Given the description of an element on the screen output the (x, y) to click on. 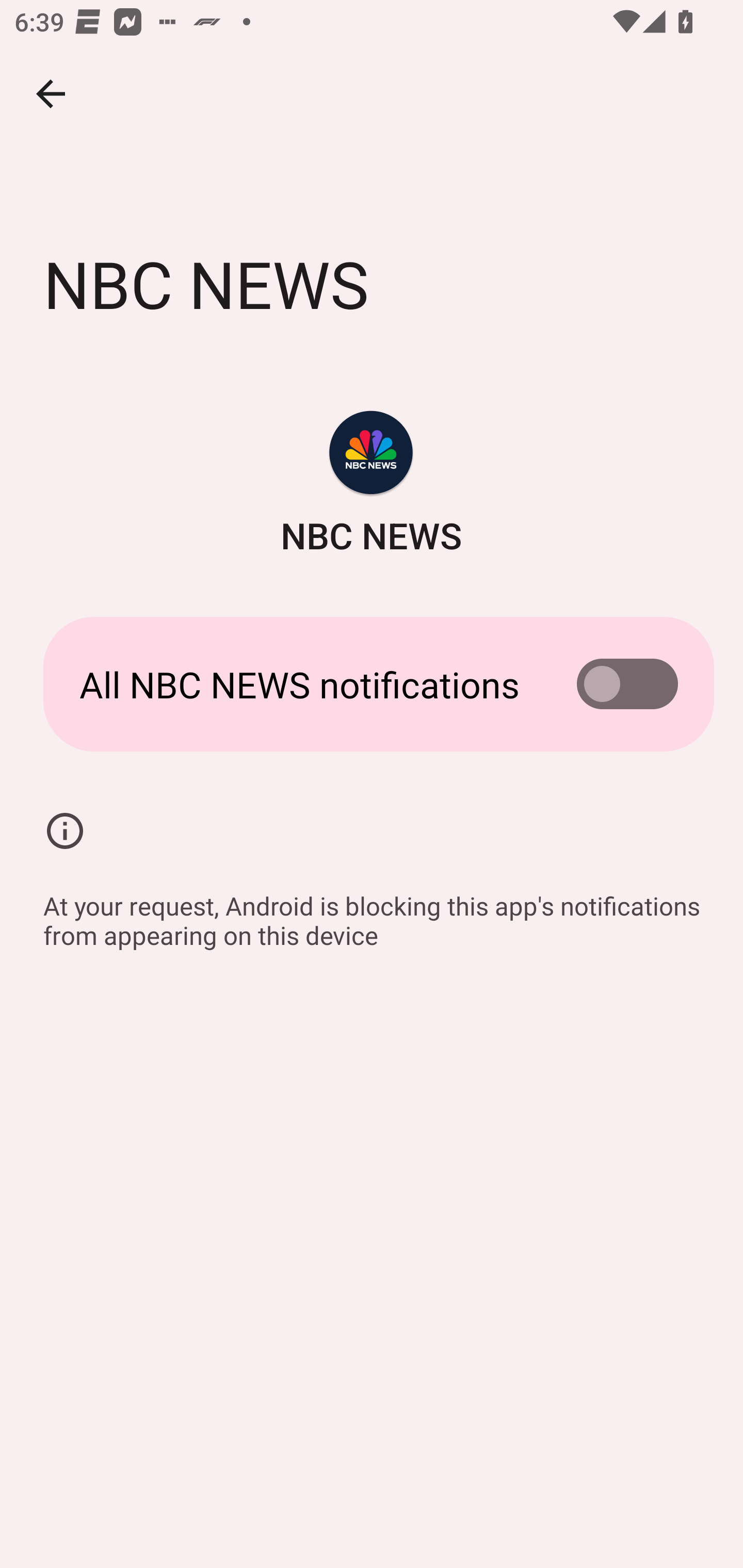
Navigate up (50, 93)
NBC NEWS (371, 484)
All NBC NEWS notifications (371, 684)
